Given the description of an element on the screen output the (x, y) to click on. 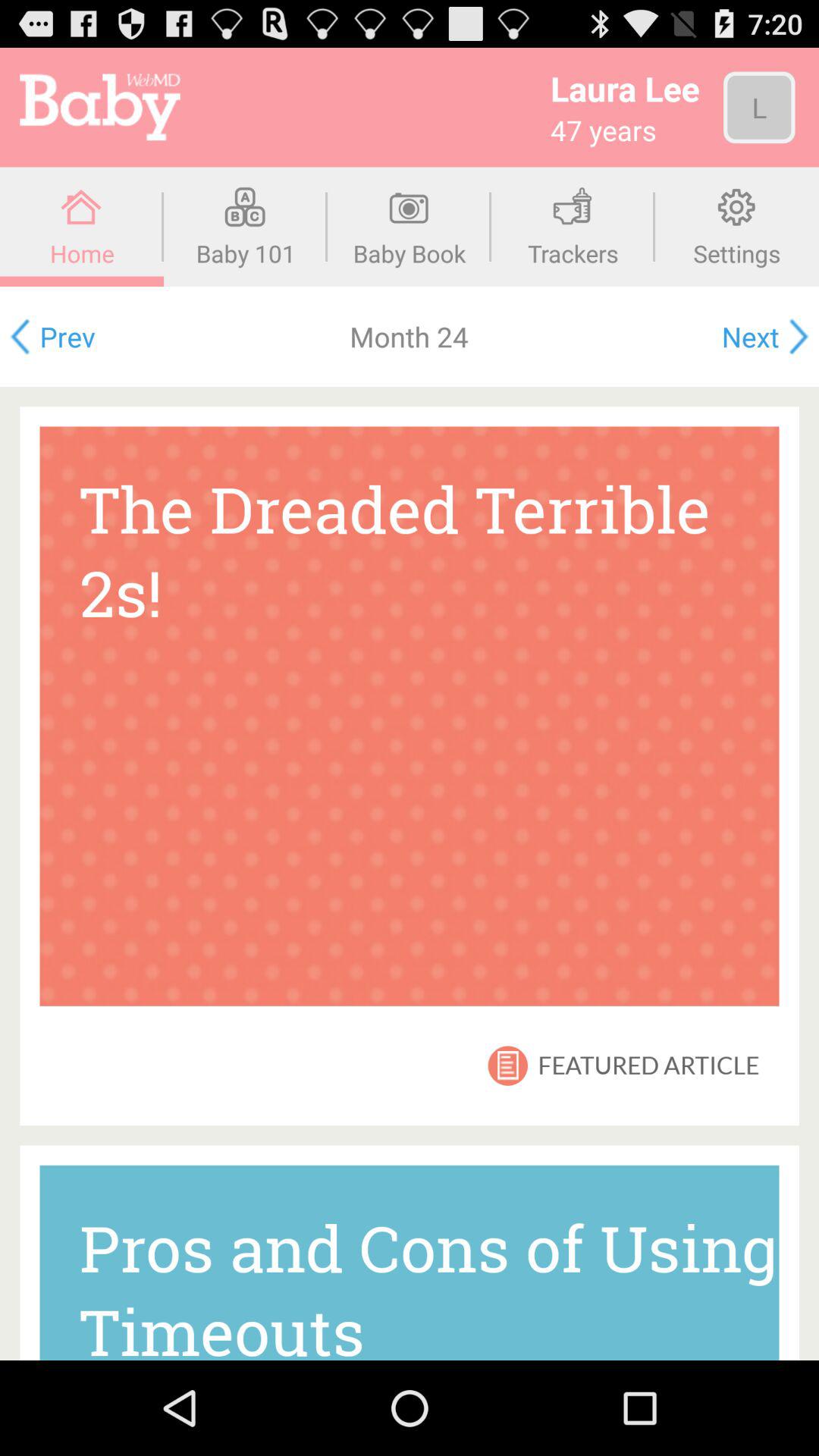
select item below the the dreaded terrible item (507, 1065)
